Given the description of an element on the screen output the (x, y) to click on. 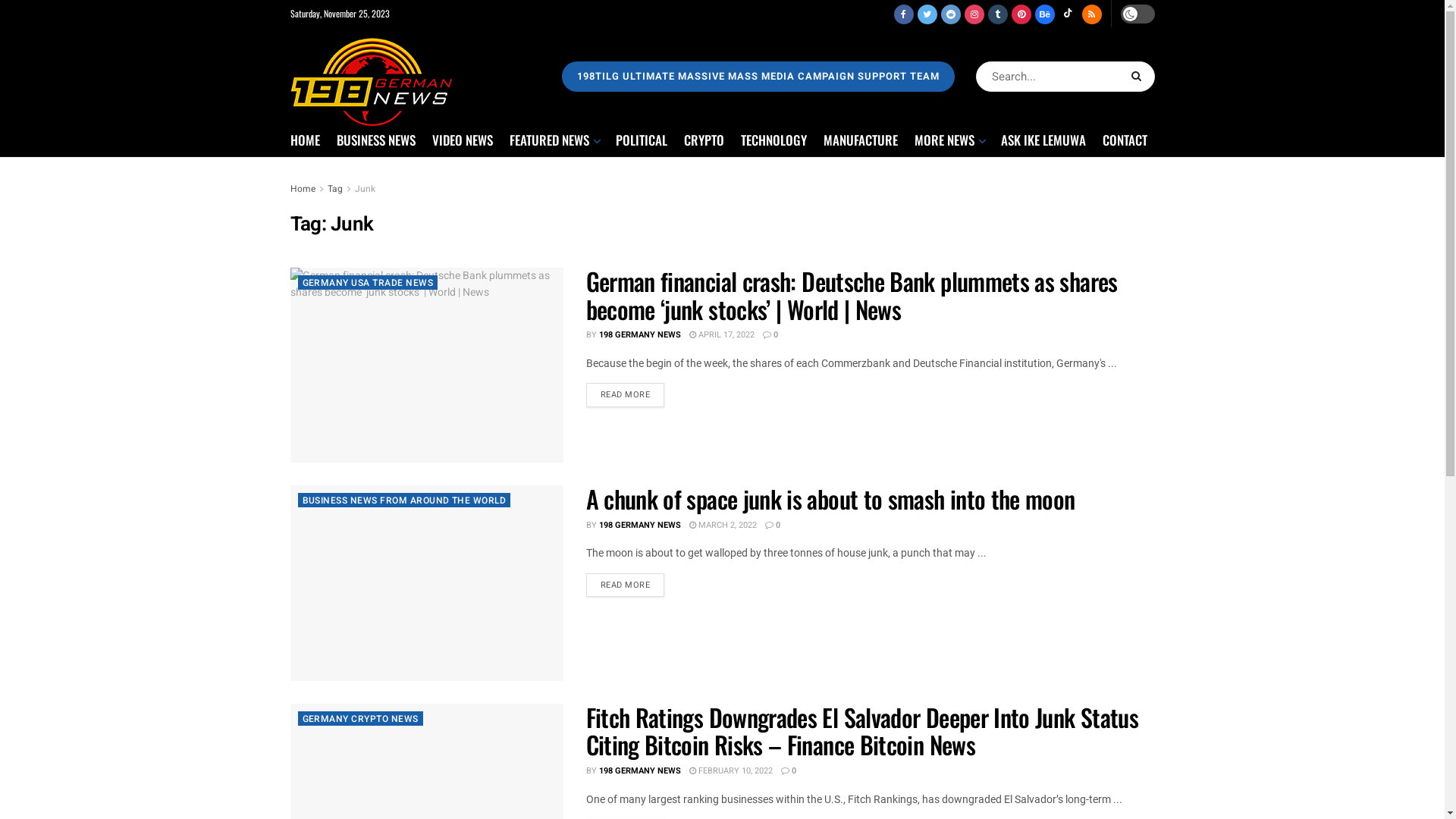
MORE NEWS Element type: text (949, 139)
VIDEO NEWS Element type: text (462, 139)
CRYPTO Element type: text (704, 139)
BUSINESS NEWS Element type: text (375, 139)
TECHNOLOGY Element type: text (773, 139)
Tag Element type: text (334, 188)
0 Element type: text (770, 334)
HOME Element type: text (304, 139)
198 GERMANY NEWS Element type: text (639, 334)
READ MORE Element type: text (624, 585)
POLITICAL Element type: text (641, 139)
A chunk of space junk is about to smash into the moon Element type: text (829, 498)
GERMANY USA TRADE NEWS Element type: text (367, 282)
GERMANY CRYPTO NEWS Element type: text (359, 718)
0 Element type: text (771, 524)
0 Element type: text (788, 770)
APRIL 17, 2022 Element type: text (720, 334)
MANUFACTURE Element type: text (860, 139)
BUSINESS NEWS FROM AROUND THE WORLD Element type: text (403, 499)
198 GERMANY NEWS Element type: text (639, 524)
MARCH 2, 2022 Element type: text (722, 524)
FEBRUARY 10, 2022 Element type: text (729, 770)
CONTACT Element type: text (1124, 139)
198TILG ULTIMATE MASSIVE MASS MEDIA CAMPAIGN SUPPORT TEAM Element type: text (757, 75)
ASK IKE LEMUWA Element type: text (1043, 139)
198 GERMANY NEWS Element type: text (639, 770)
Junk Element type: text (364, 188)
READ MORE Element type: text (624, 394)
FEATURED NEWS Element type: text (554, 139)
Home Element type: text (301, 188)
